Given the description of an element on the screen output the (x, y) to click on. 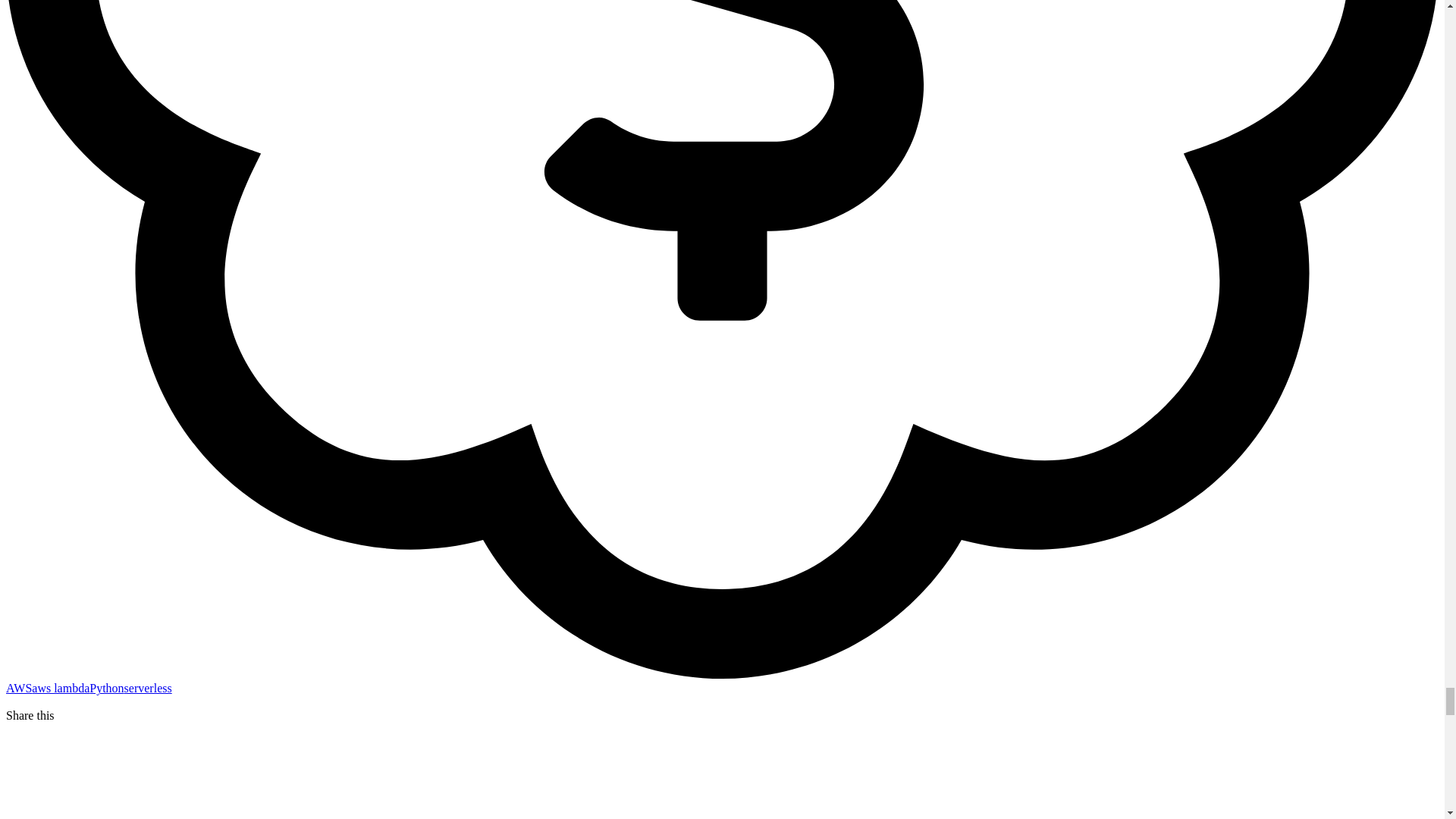
AWS (18, 687)
Python (105, 687)
aws lambda (60, 687)
serverless (147, 687)
